Given the description of an element on the screen output the (x, y) to click on. 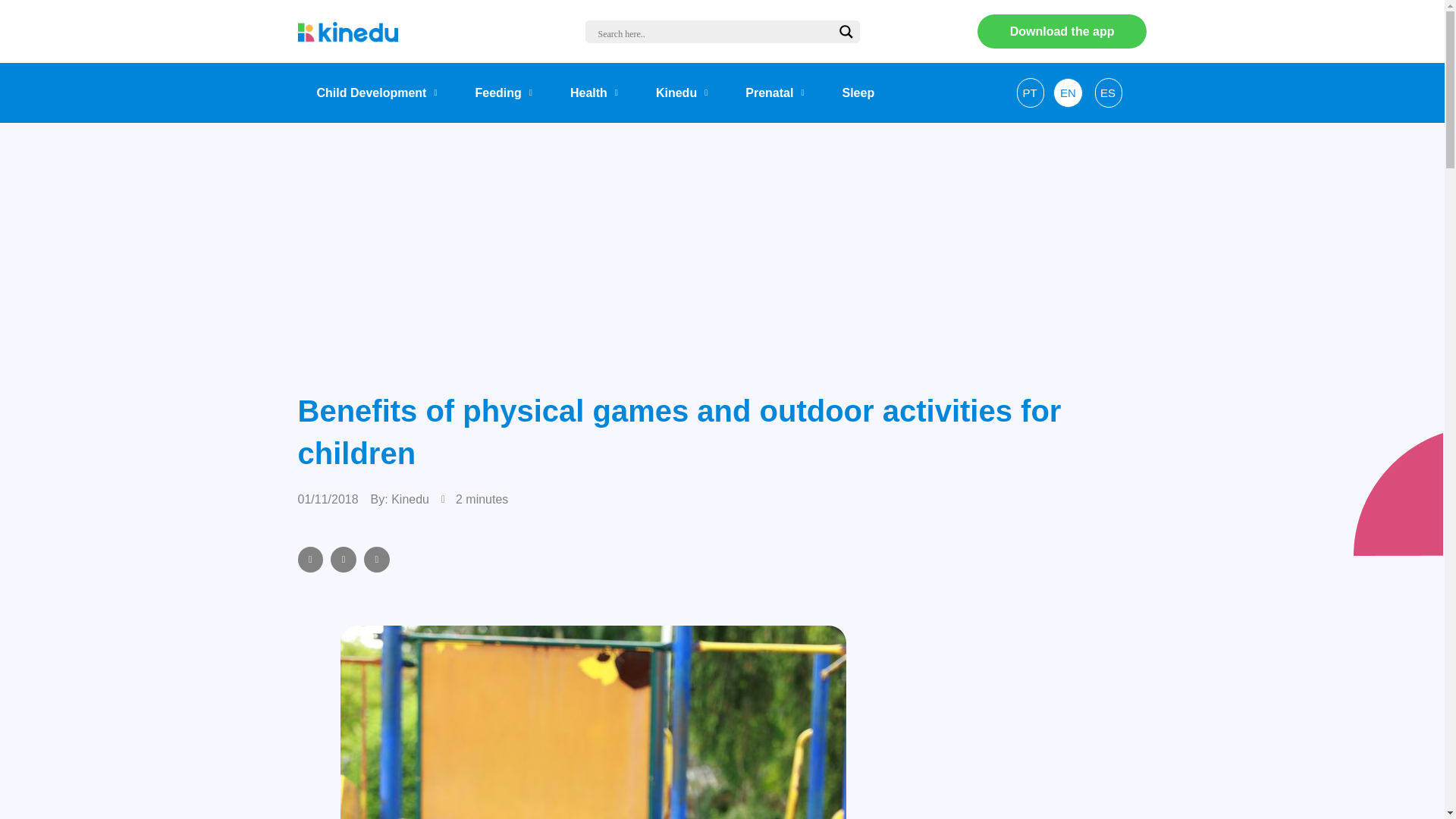
Prenatal (774, 93)
Health (594, 93)
Sleep (857, 93)
Feeding (504, 93)
Child Development (376, 93)
Advertisement (1018, 722)
Kinedu (681, 93)
Download the app (1061, 31)
